Given the description of an element on the screen output the (x, y) to click on. 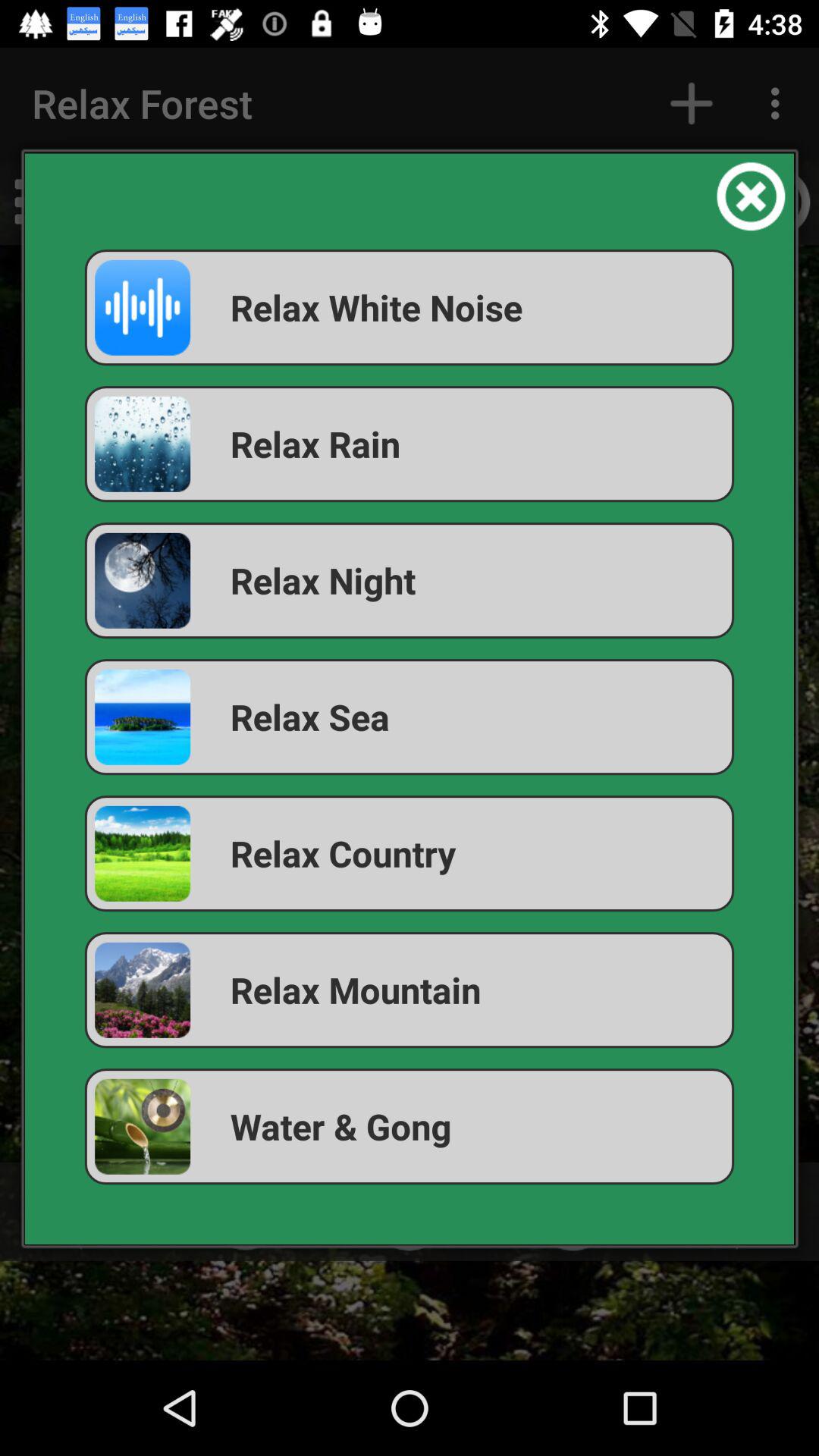
choose the item at the top right corner (750, 196)
